Given the description of an element on the screen output the (x, y) to click on. 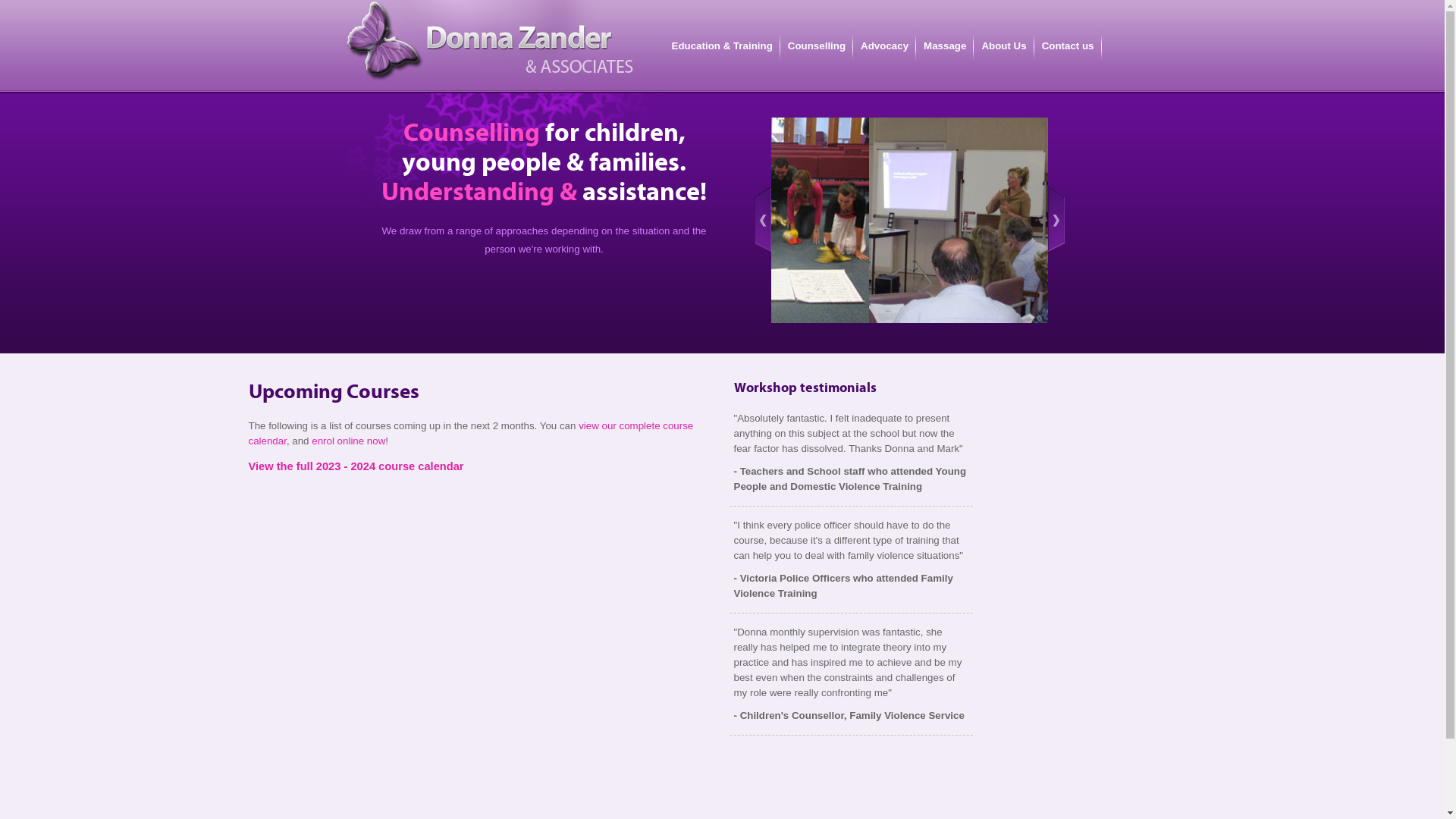
Counselling Element type: text (816, 45)
enrol online now Element type: text (348, 440)
Contact us Element type: text (1067, 45)
view our complete course calendar Element type: text (470, 433)
Massage Element type: text (944, 45)
View the full 2023 - 2024 course calendar Element type: text (356, 466)
Advocacy Element type: text (884, 45)
About Us Element type: text (1003, 45)
Education & Training Element type: text (722, 45)
